Given the description of an element on the screen output the (x, y) to click on. 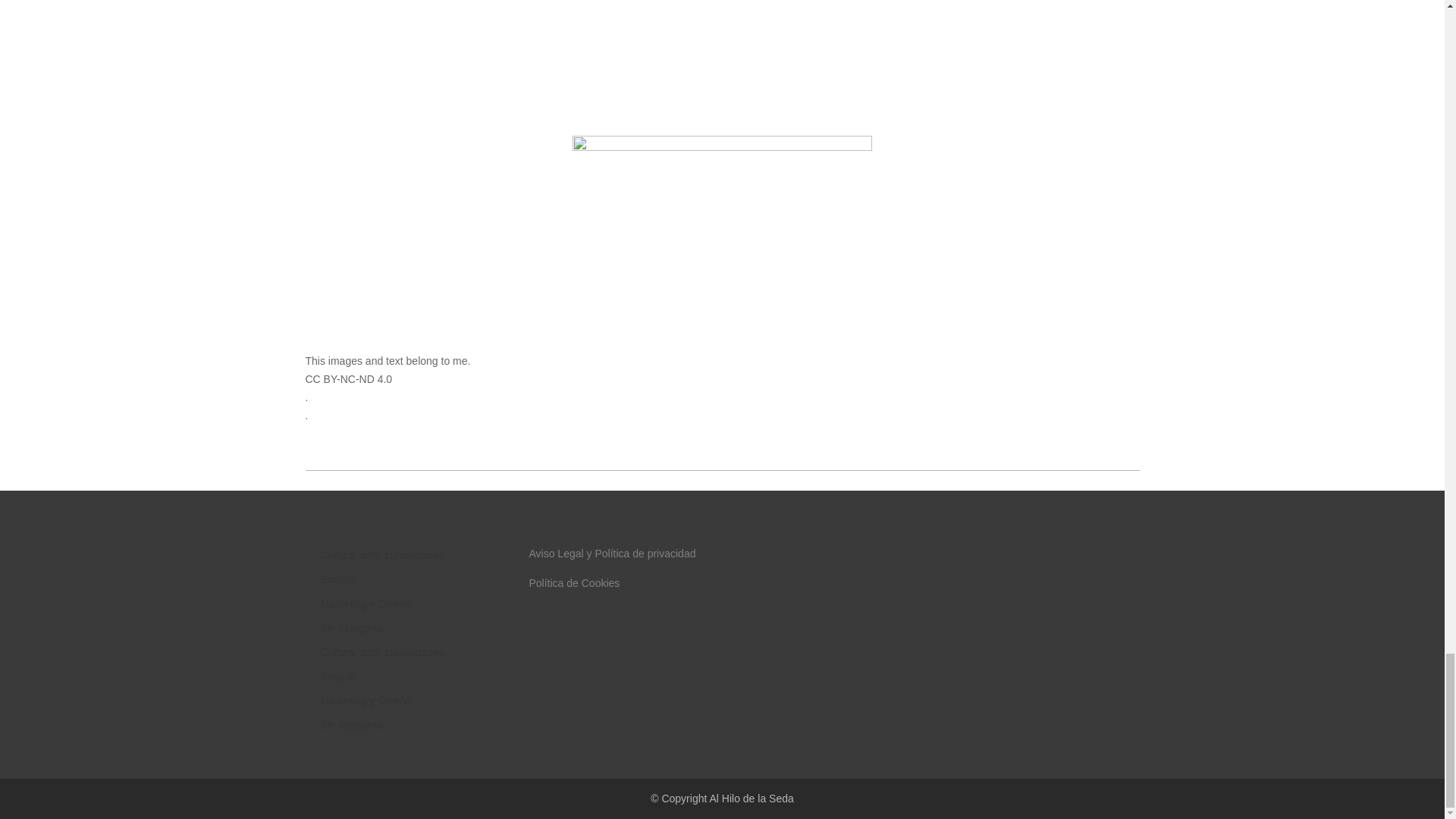
Cultura, arte, curiosidades (382, 652)
Cultura, arte, curiosidades (382, 554)
English (337, 676)
English (337, 579)
A (712, 798)
